Given the description of an element on the screen output the (x, y) to click on. 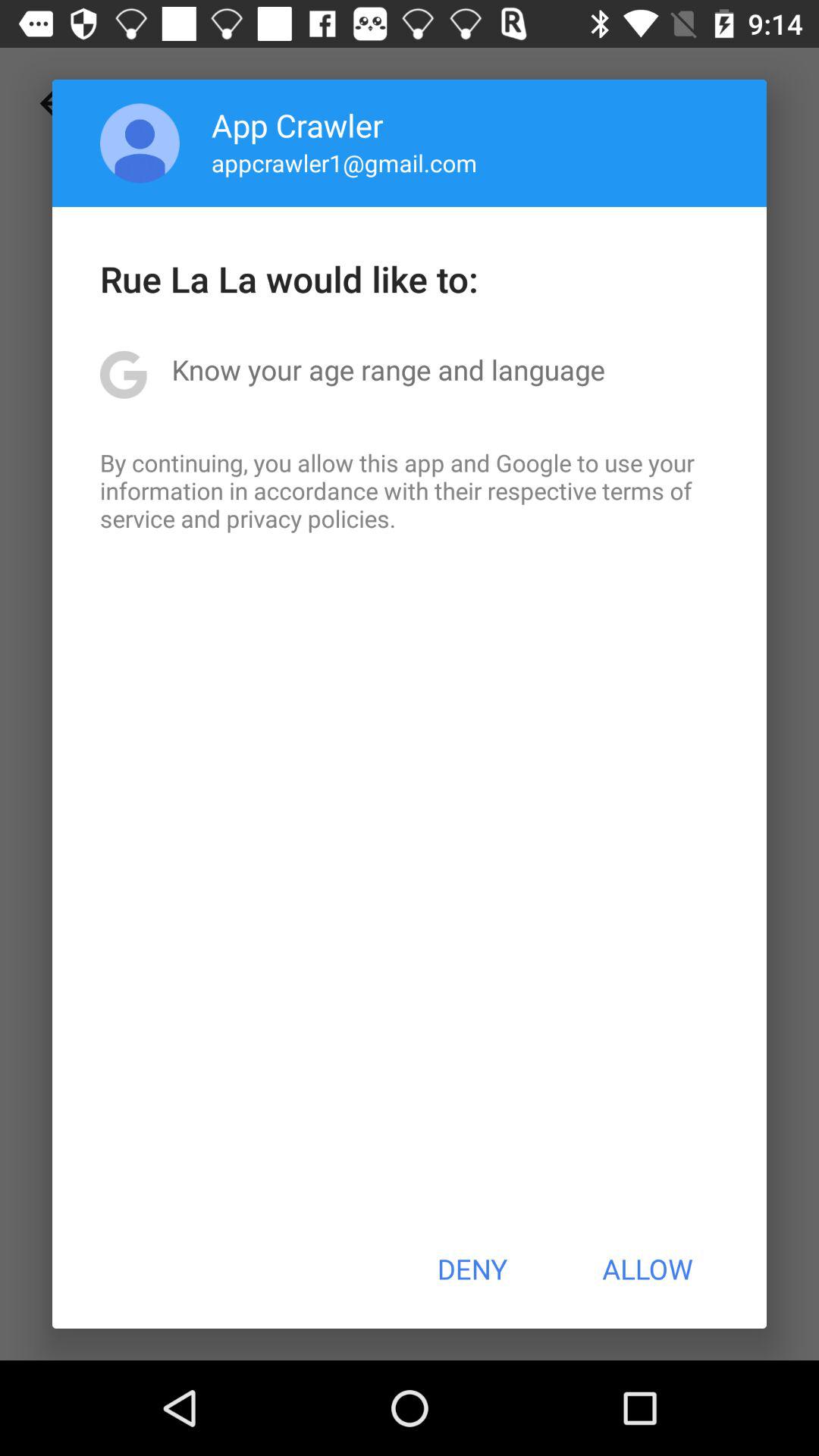
tap the app above by continuing you item (388, 369)
